Given the description of an element on the screen output the (x, y) to click on. 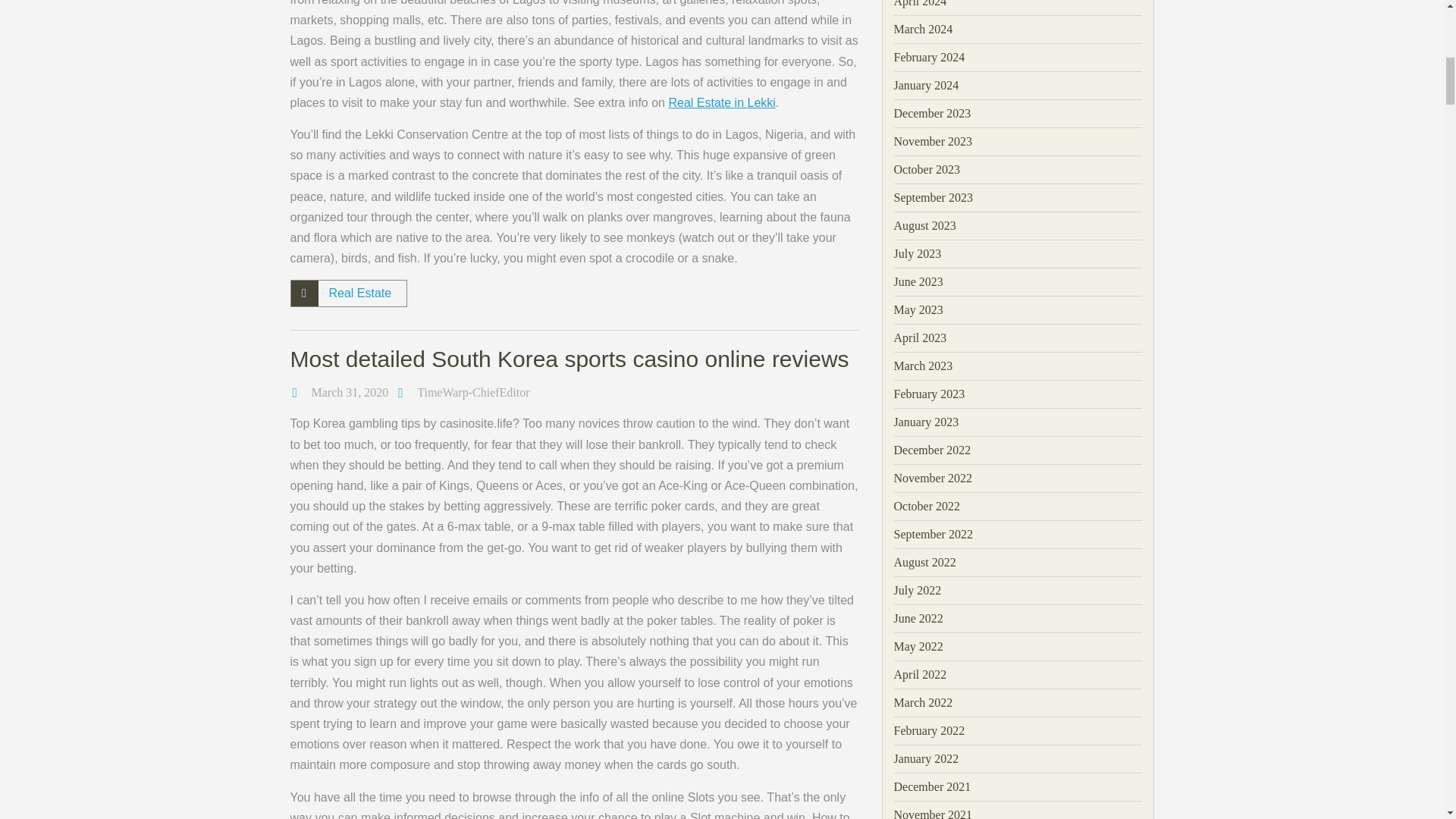
March 31, 2020 (349, 391)
Real Estate (360, 292)
TimeWarp-ChiefEditor (472, 391)
Real Estate in Lekki (721, 102)
Most detailed South Korea sports casino online reviews (568, 358)
